Given the description of an element on the screen output the (x, y) to click on. 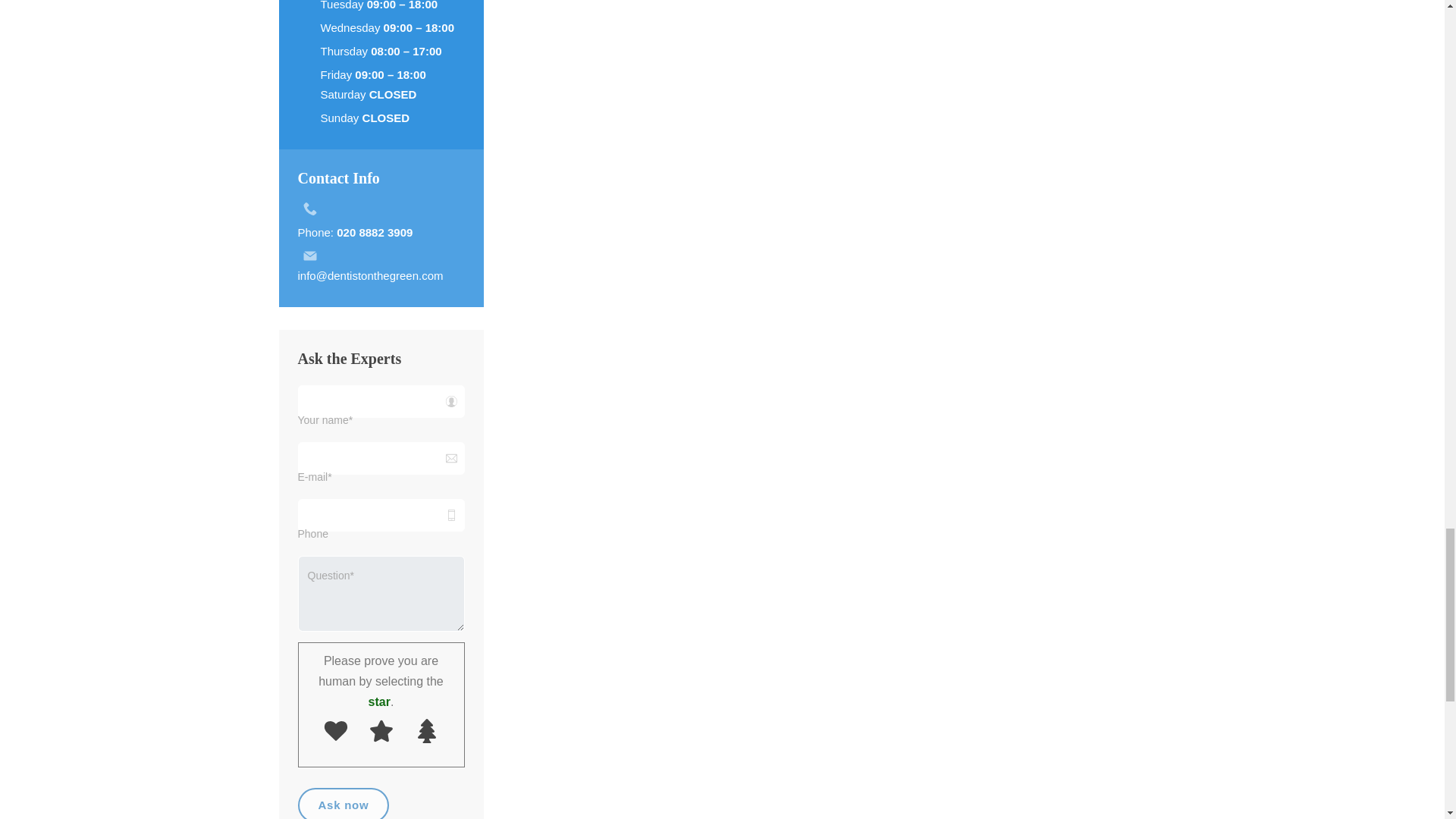
Ask now (342, 803)
